Given the description of an element on the screen output the (x, y) to click on. 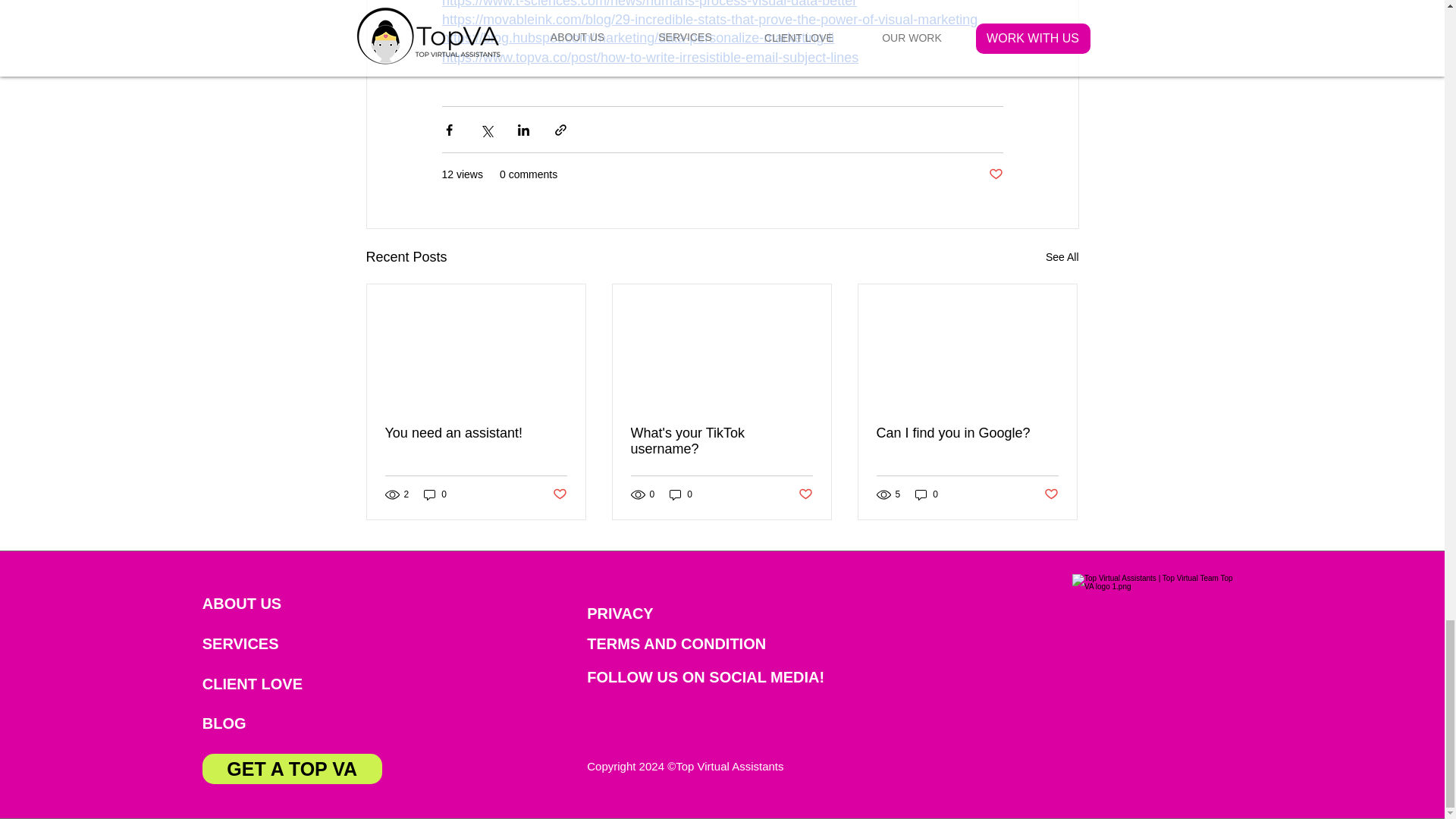
Post not marked as liked (995, 174)
0 (435, 494)
0 (681, 494)
See All (1061, 257)
What's your TikTok username? (721, 441)
Post not marked as liked (804, 494)
Post not marked as liked (558, 494)
You need an assistant! (476, 433)
